Given the description of an element on the screen output the (x, y) to click on. 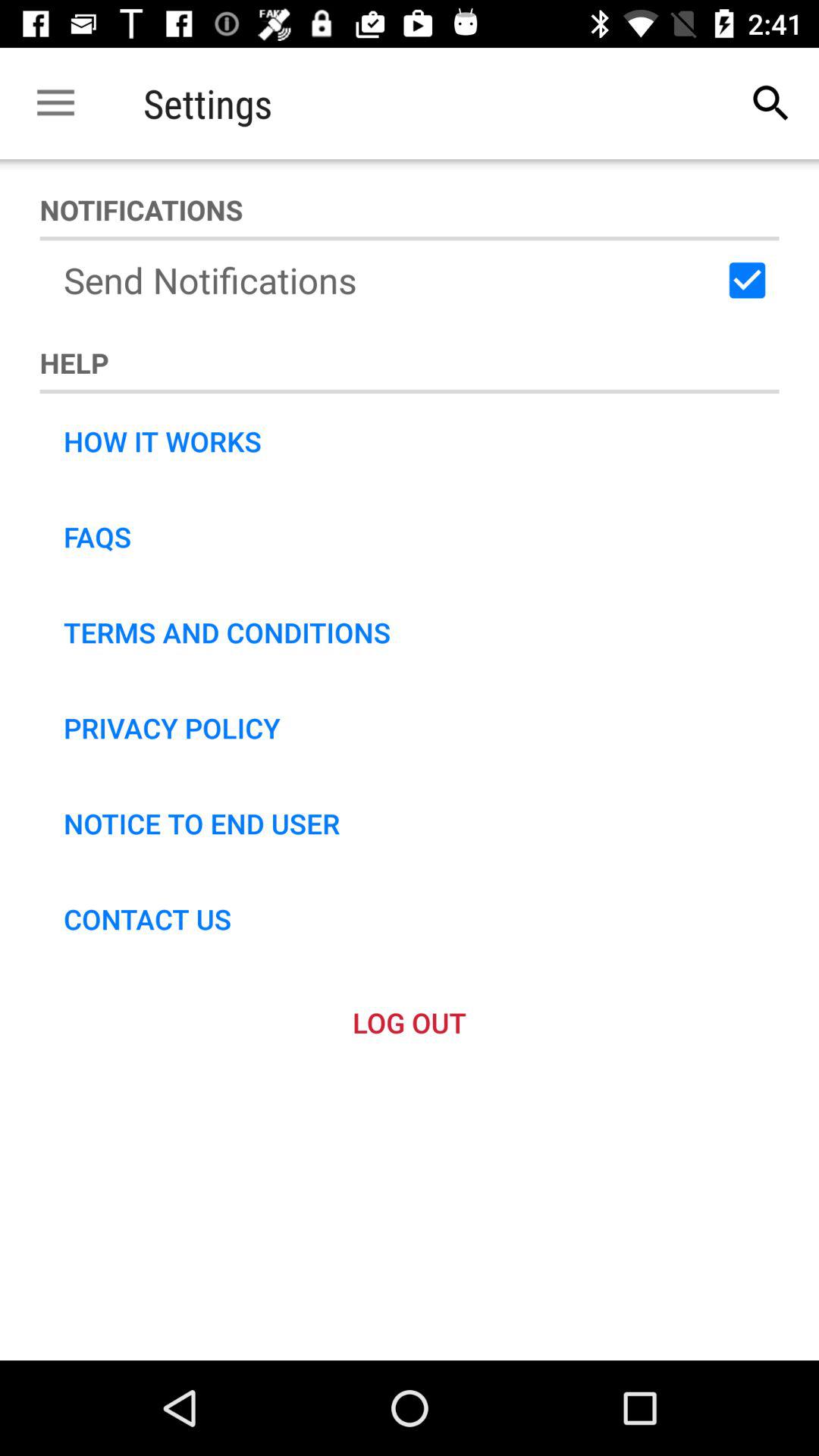
jump to contact us (147, 918)
